Given the description of an element on the screen output the (x, y) to click on. 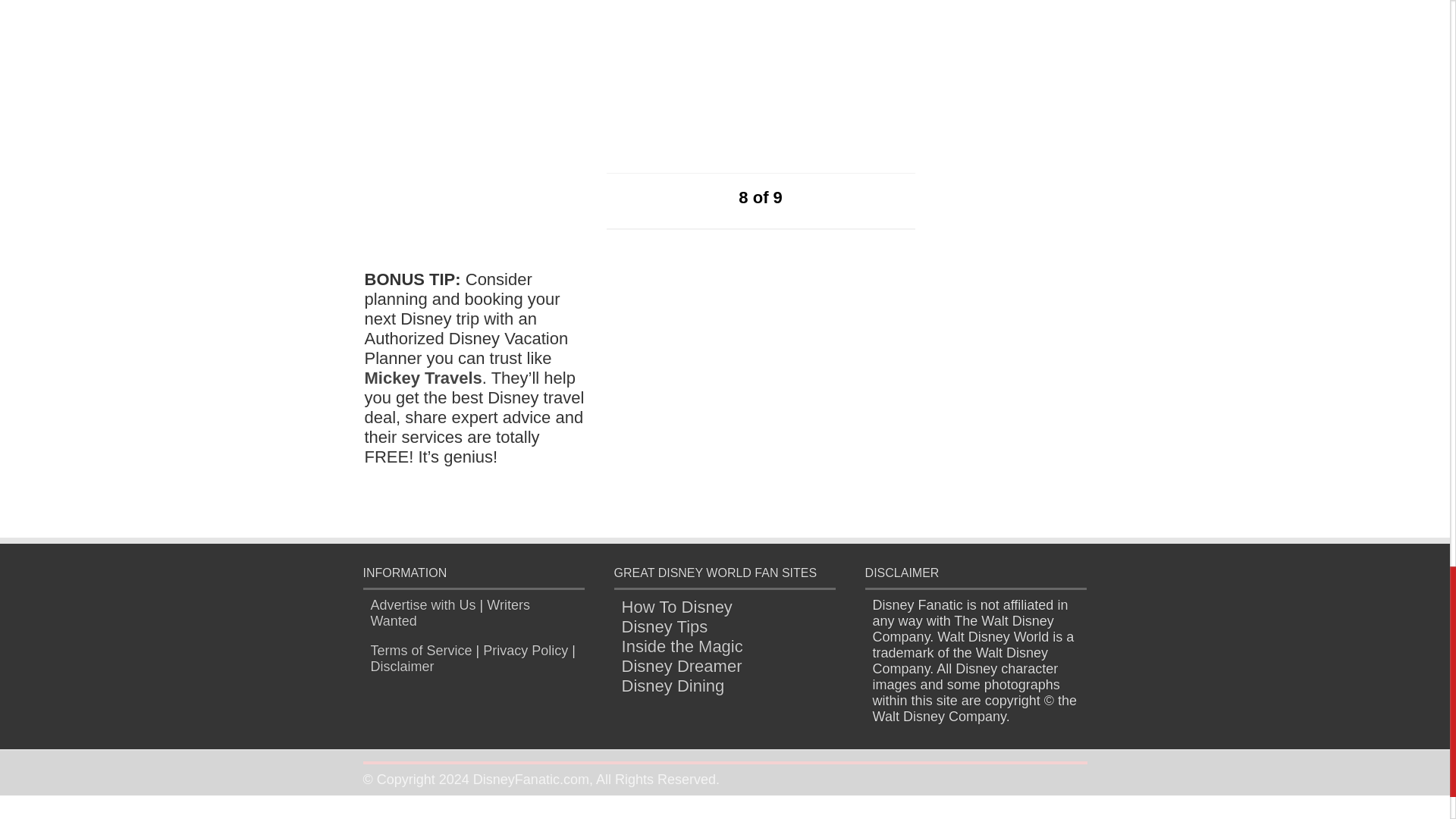
Writers Wanted (449, 612)
Disney Dreamer (681, 665)
Disclaimer (401, 666)
Privacy Policy (525, 650)
Disney Dining (673, 685)
right (808, 197)
Terms of Service (420, 650)
Advertisement (720, 50)
Disney Tips (664, 626)
Advertise with Us (422, 604)
Left (714, 197)
How To Disney (676, 606)
Inside the Magic (681, 646)
Mickey Travels (422, 377)
Advertisement (972, 403)
